Given the description of an element on the screen output the (x, y) to click on. 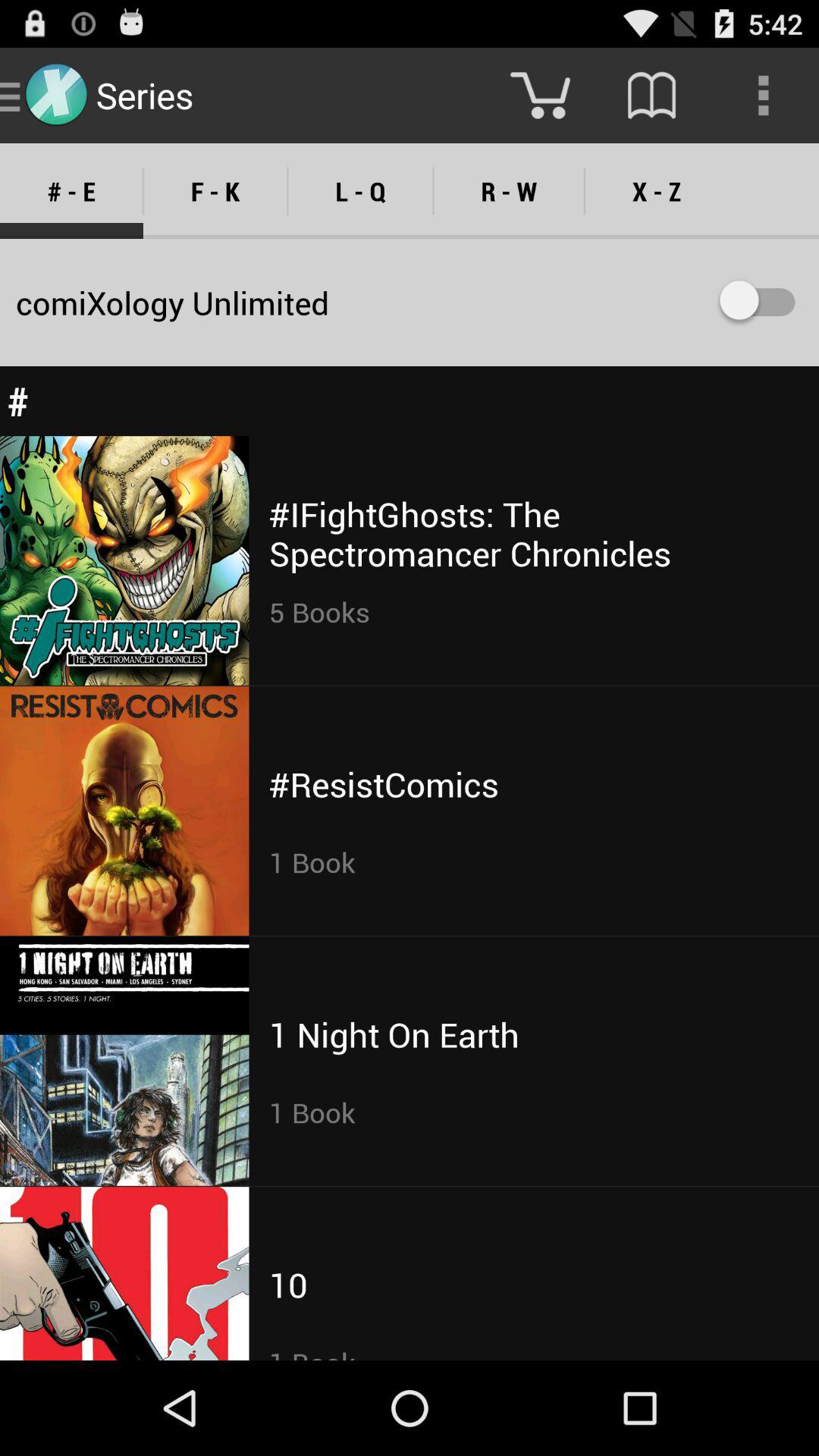
open # icon (409, 400)
